Given the description of an element on the screen output the (x, y) to click on. 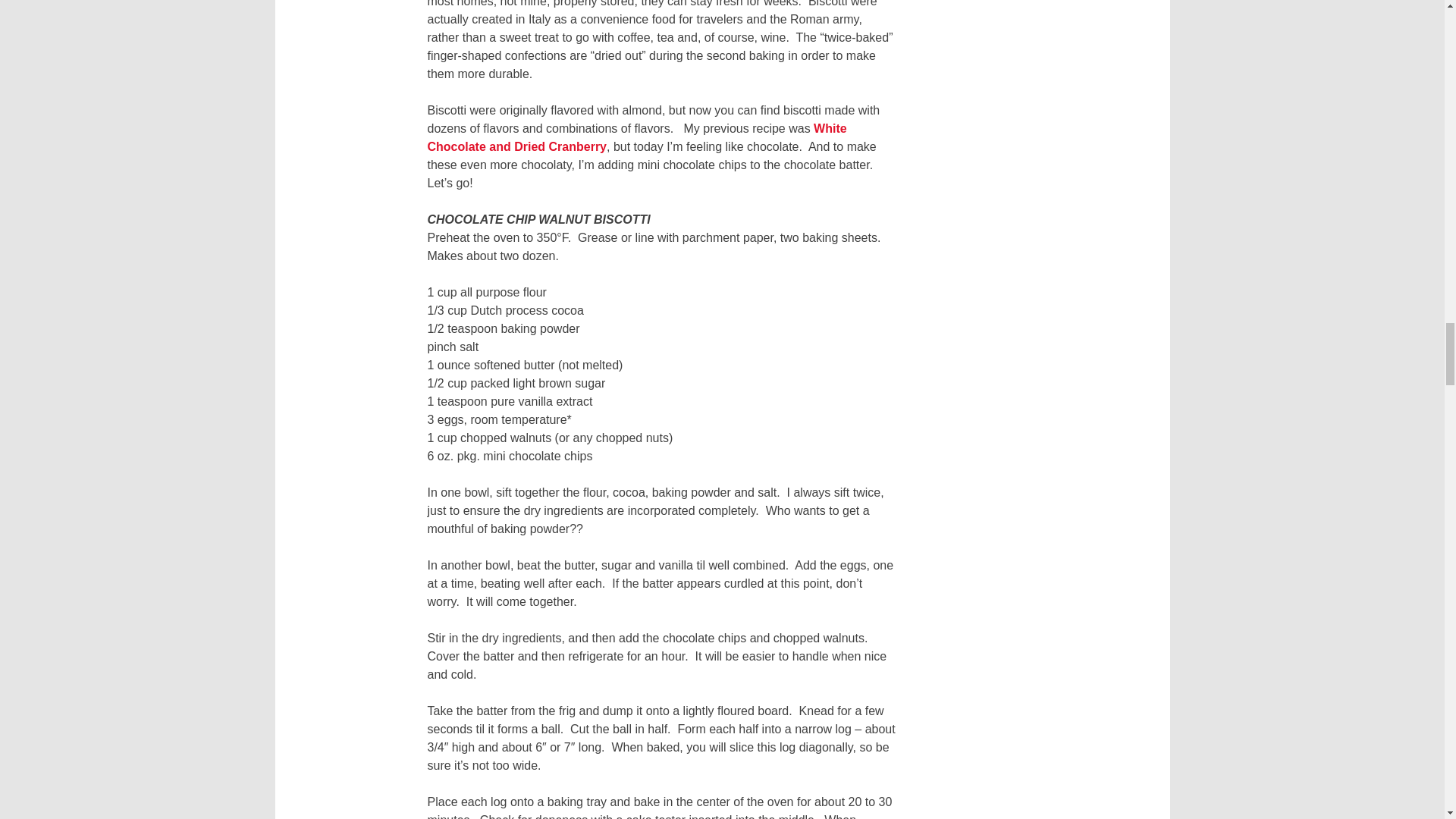
White Chocolate and Dried Cranberry (637, 137)
